Given the description of an element on the screen output the (x, y) to click on. 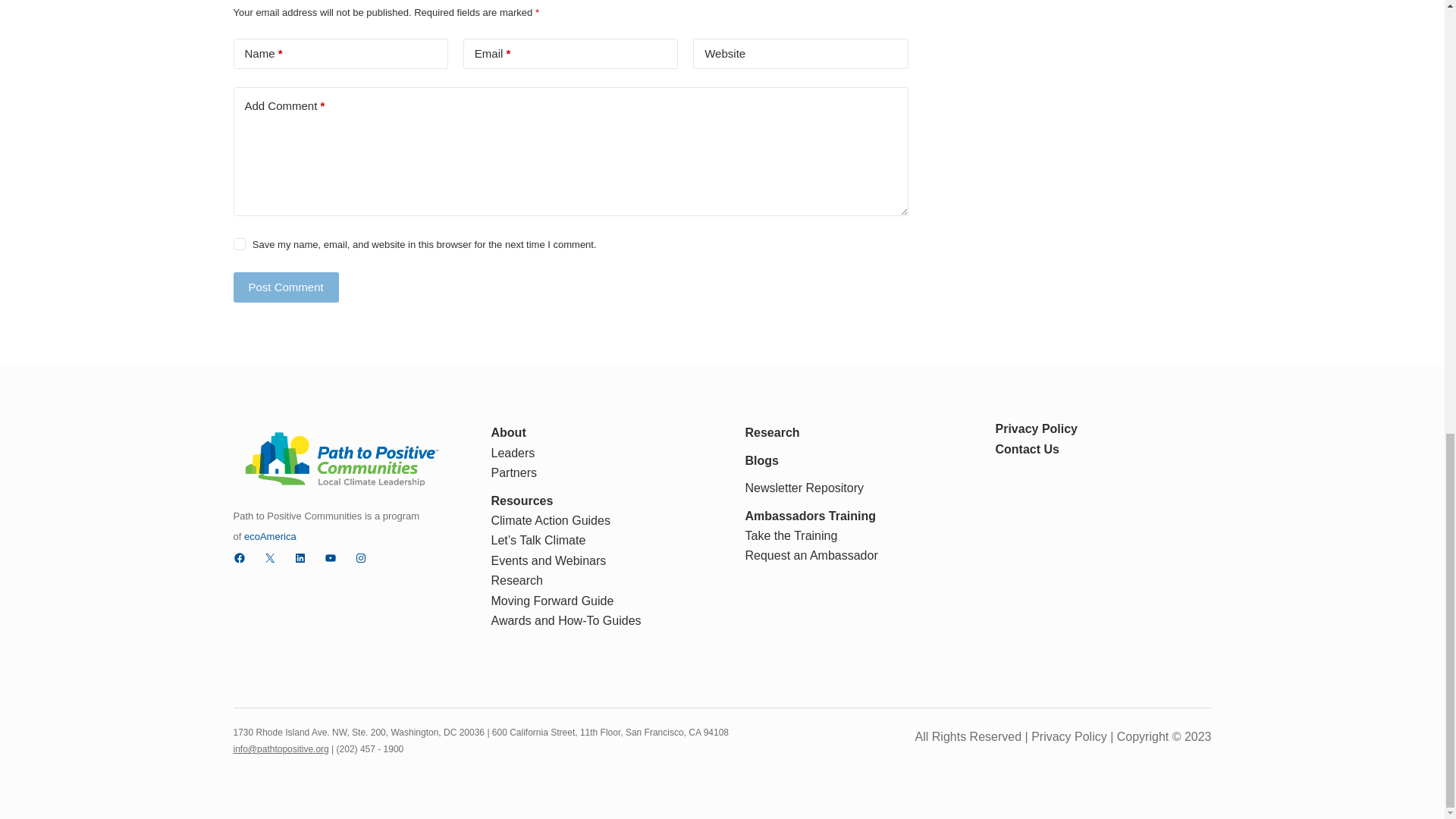
yes (239, 244)
